Given the description of an element on the screen output the (x, y) to click on. 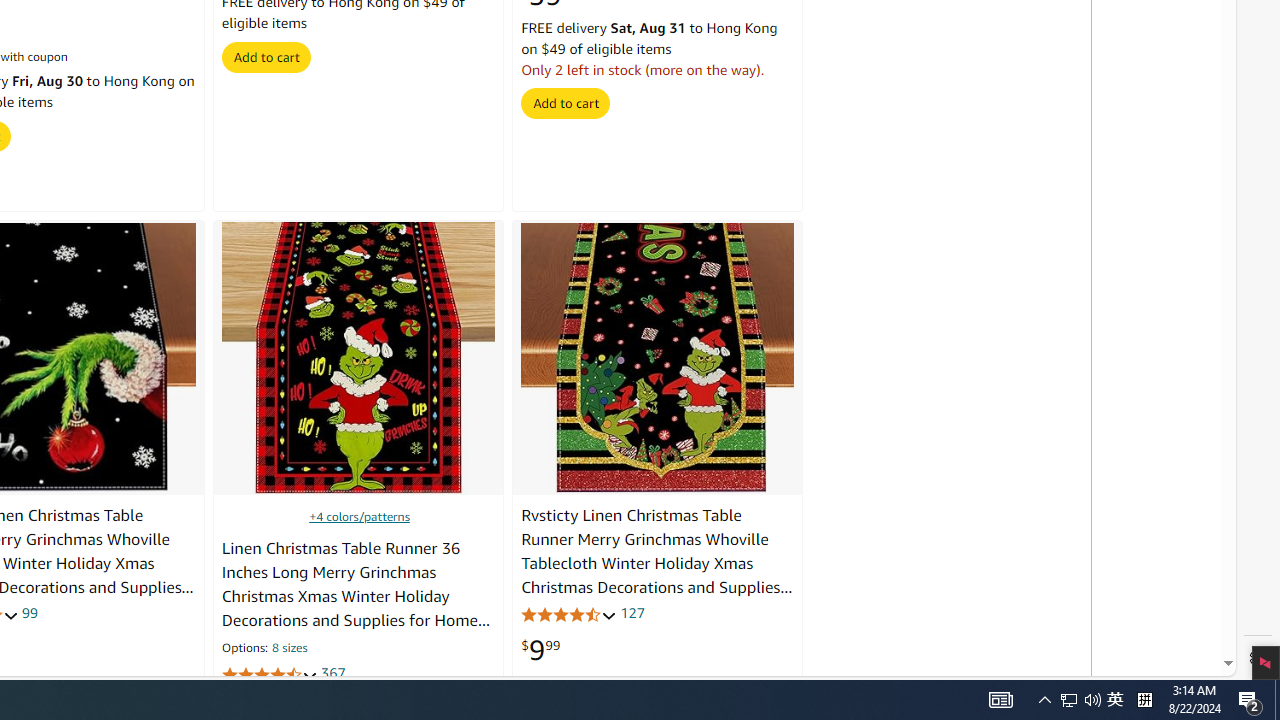
$9.99 (540, 650)
4.7 out of 5 stars (269, 675)
127 (632, 612)
99 (29, 612)
8 sizes (289, 649)
+4 colors/patterns (358, 516)
4.6 out of 5 stars (569, 614)
Add to cart (566, 102)
367 (332, 673)
